Given the description of an element on the screen output the (x, y) to click on. 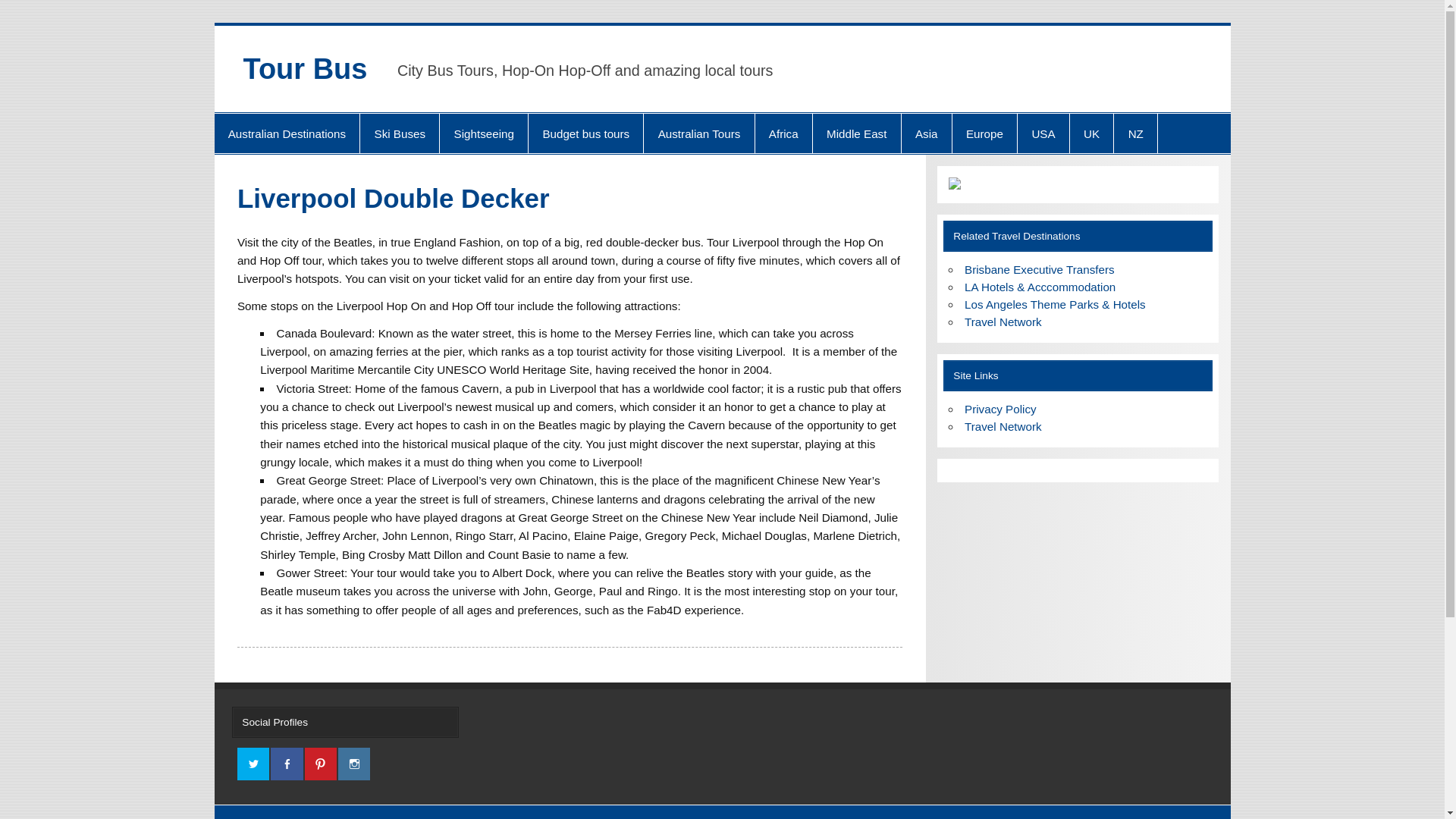
Australian Tour Bus (698, 133)
Australian Destinations (286, 133)
Tour Bus (304, 69)
Sightseeing Tour Bus (483, 133)
Skiing Tour Bus (399, 133)
City Bus Tours (286, 133)
